Given the description of an element on the screen output the (x, y) to click on. 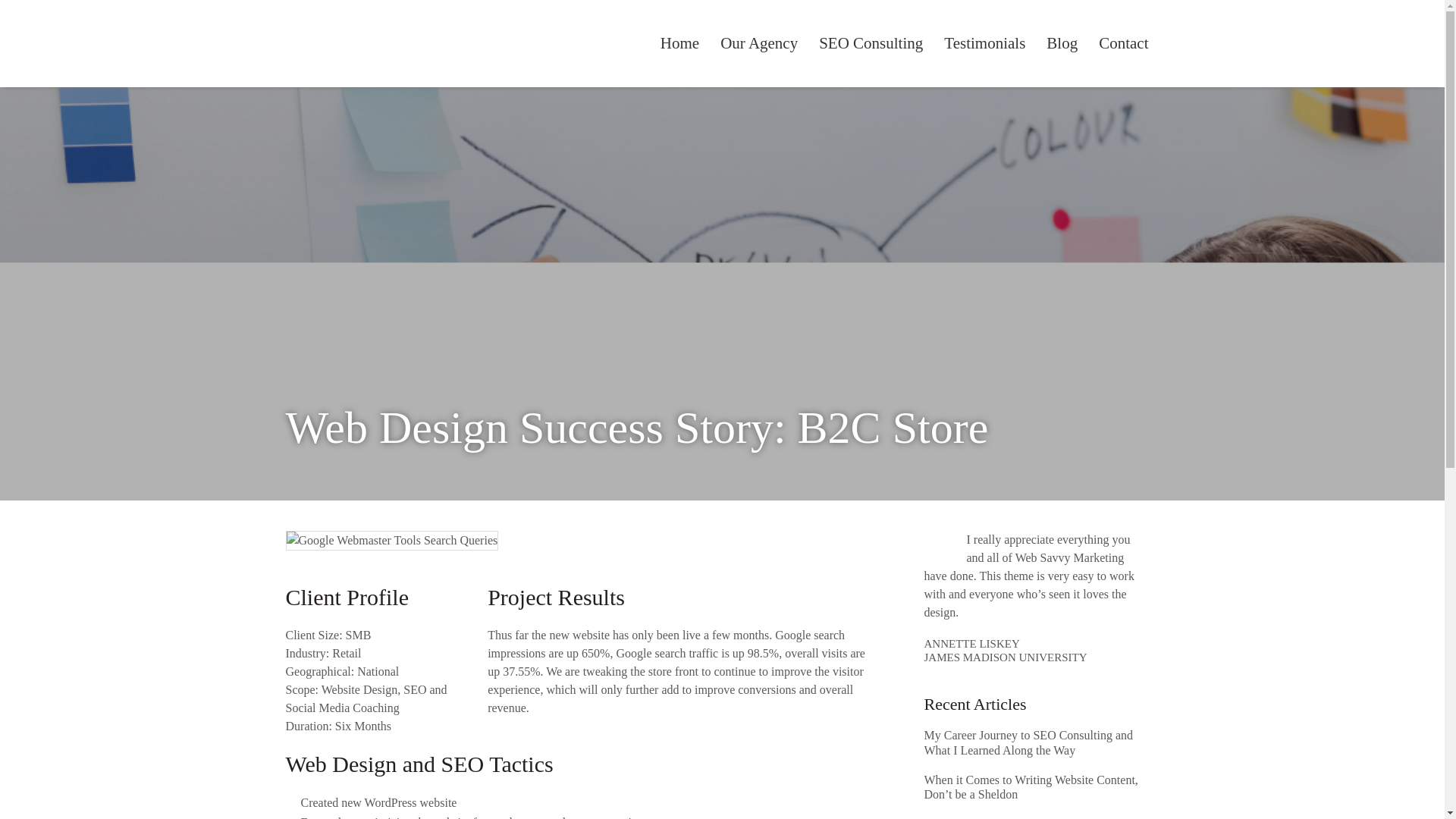
Our Digital Marketing Agency (759, 43)
SEO Consulting Services (870, 43)
Testimonials (984, 43)
Our Agency (759, 43)
Client Testimonials (984, 43)
SEO Consulting (870, 43)
Google Webmaster Tools Search Queries (391, 540)
Web Savvy Marketing (345, 43)
